Given the description of an element on the screen output the (x, y) to click on. 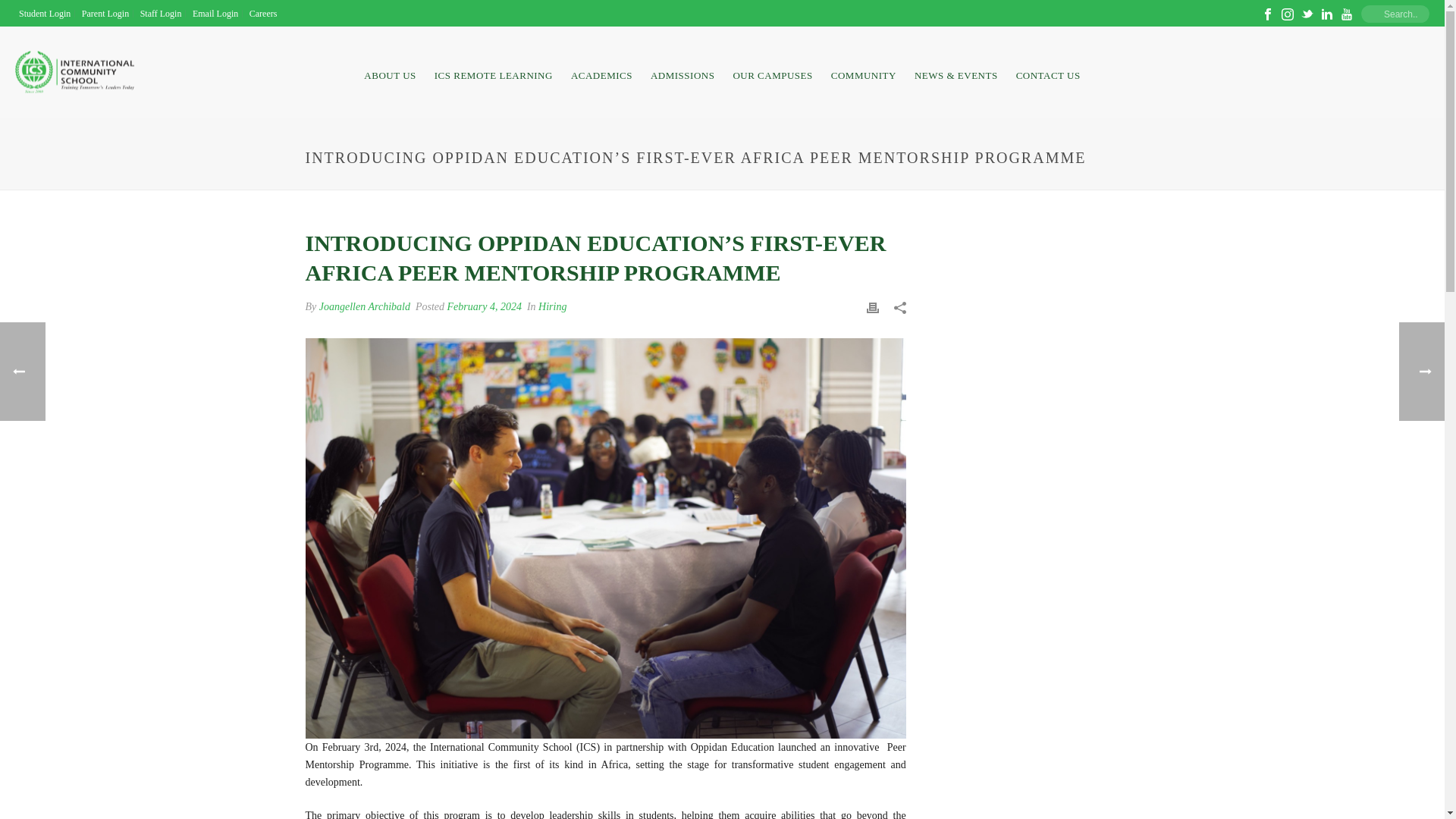
Posts by Joangellen Archibald (364, 306)
ADMISSIONS (682, 71)
Email Login (216, 13)
OUR CAMPUSES (772, 71)
ABOUT US (390, 71)
ACADEMICS (602, 71)
Staff Login (161, 13)
Student Login (44, 13)
Parent Login (105, 13)
COMMUNITY (863, 71)
Training Tomorrow's Leaders Today (73, 72)
COMMUNITY (863, 71)
ICS REMOTE LEARNING (493, 71)
ADMISSIONS (682, 71)
CONTACT US (1048, 71)
